Given the description of an element on the screen output the (x, y) to click on. 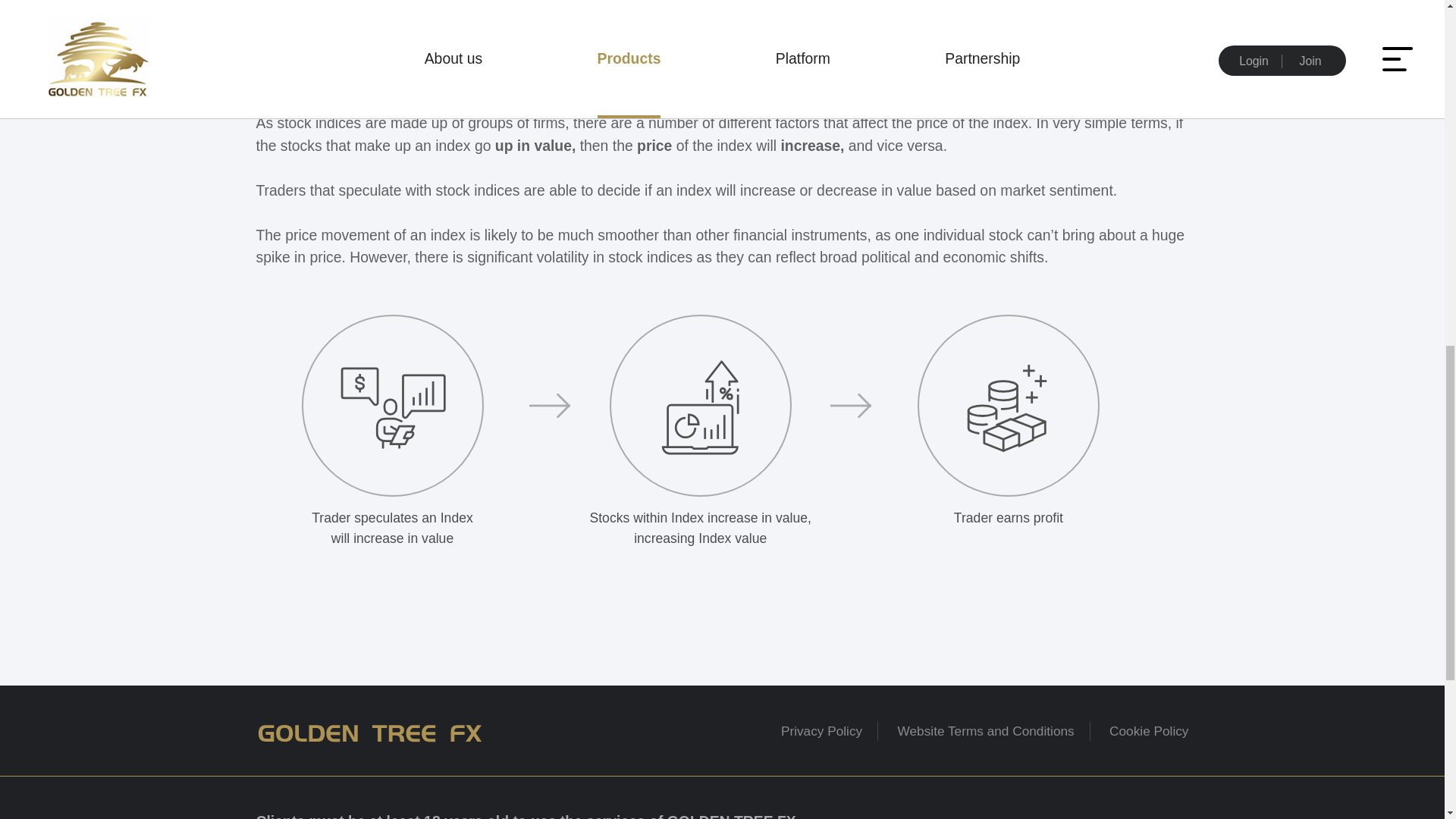
Privacy Policy (821, 731)
Website Terms and Conditions (986, 731)
